Given the description of an element on the screen output the (x, y) to click on. 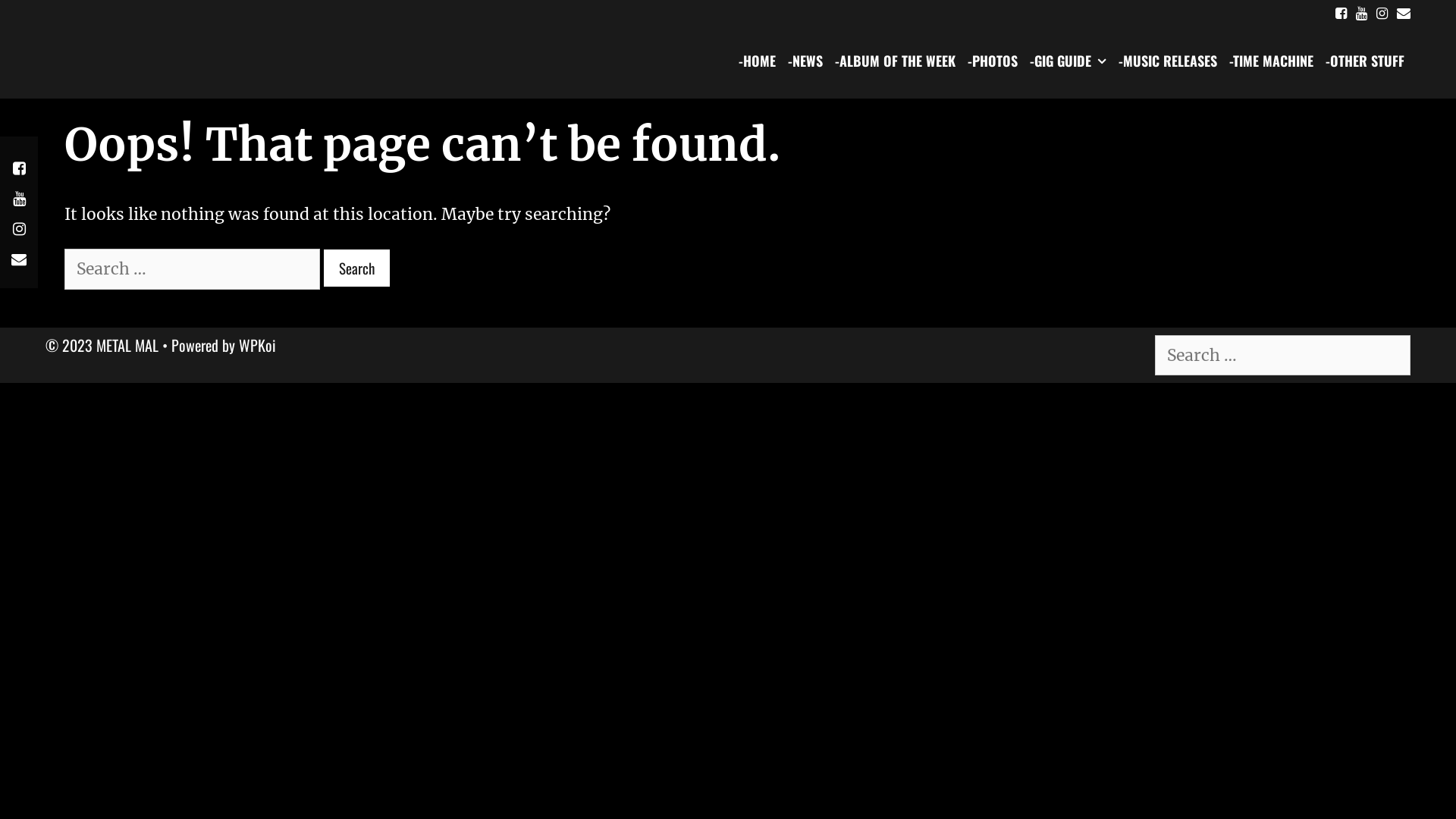
-HOME Element type: text (756, 60)
WPKoi Element type: text (257, 344)
-PHOTOS Element type: text (992, 60)
Search for: Element type: hover (1282, 355)
Search for: Element type: hover (192, 268)
-ALBUM OF THE WEEK Element type: text (894, 60)
Search Element type: text (356, 267)
-OTHER STUFF Element type: text (1364, 60)
-MUSIC RELEASES Element type: text (1167, 60)
-TIME MACHINE Element type: text (1271, 60)
-NEWS Element type: text (804, 60)
-GIG GUIDE Element type: text (1067, 60)
Search Element type: text (32, 18)
